Given the description of an element on the screen output the (x, y) to click on. 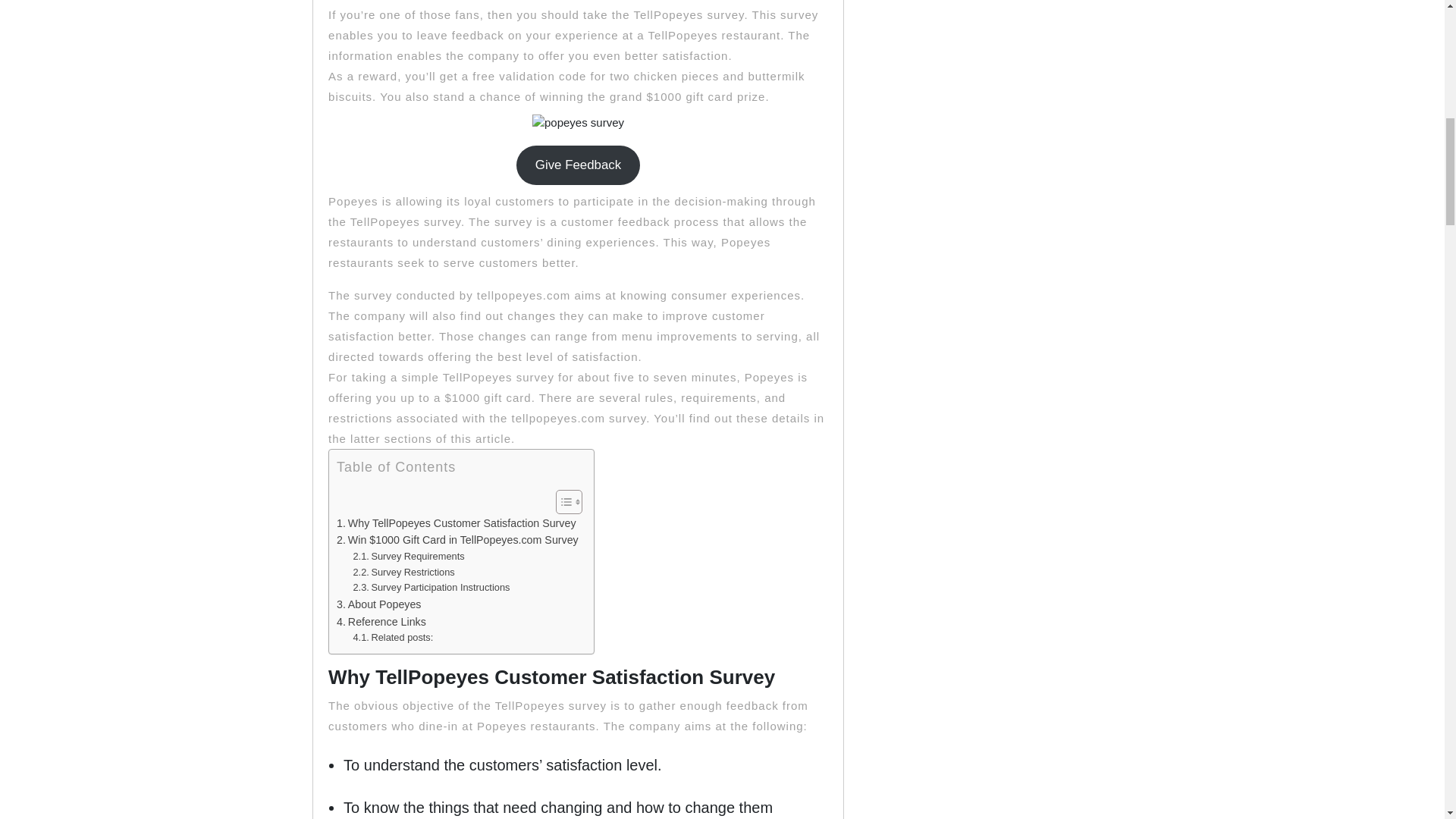
Reference Links (381, 621)
Survey Participation Instructions (430, 587)
Survey Requirements (408, 556)
Survey Requirements (408, 556)
Survey Participation Instructions (430, 587)
About Popeyes (378, 604)
Give Feedback (577, 165)
Related posts: (392, 637)
Survey Restrictions (403, 572)
About Popeyes (378, 604)
